Given the description of an element on the screen output the (x, y) to click on. 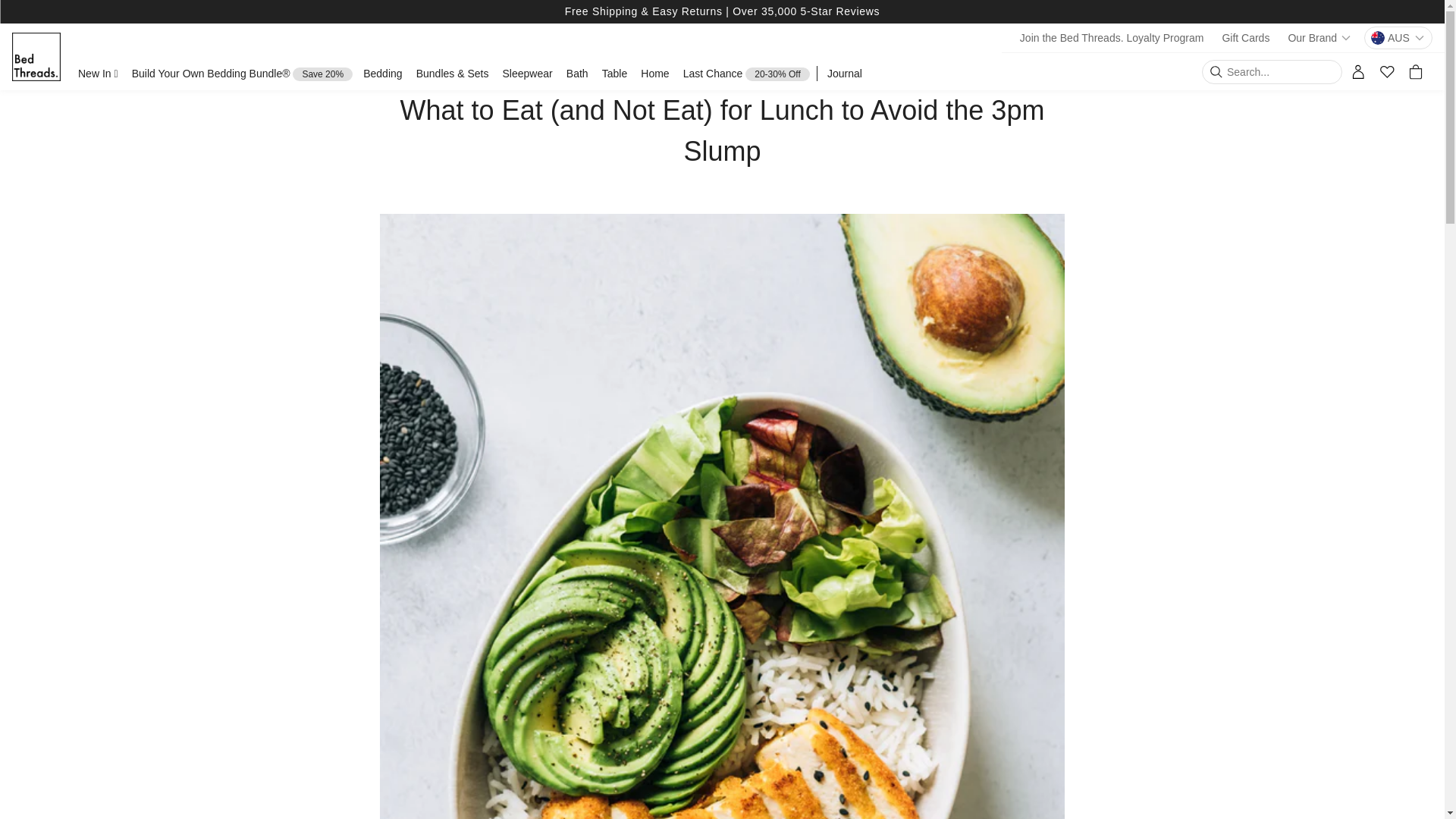
Bedding (382, 73)
